Given the description of an element on the screen output the (x, y) to click on. 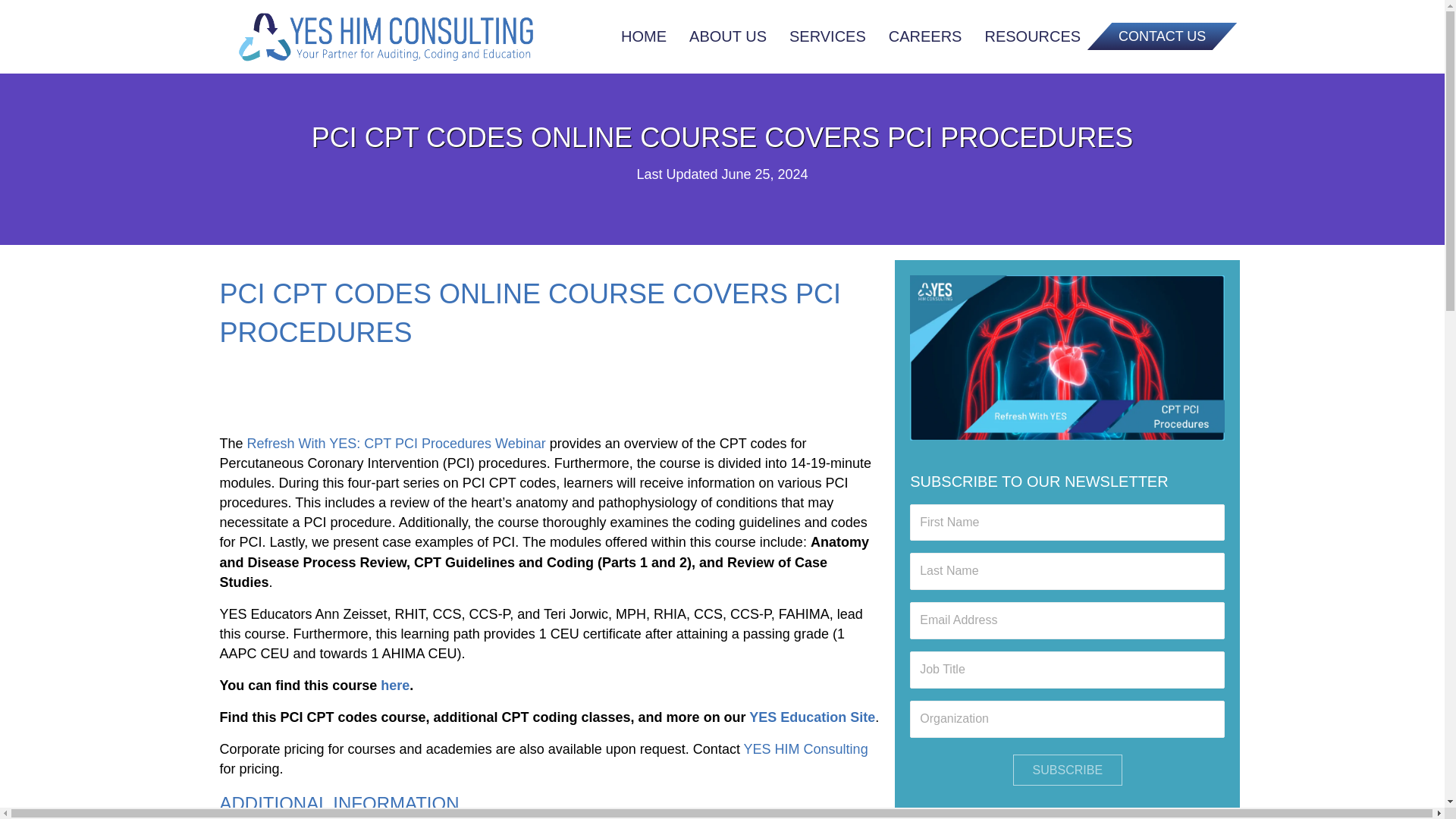
Subscribe (1067, 769)
RESOURCES (1031, 36)
SERVICES (827, 36)
HOME (643, 36)
CONTACT US (1149, 35)
CAREERS (925, 36)
ABOUT US (727, 36)
